Given the description of an element on the screen output the (x, y) to click on. 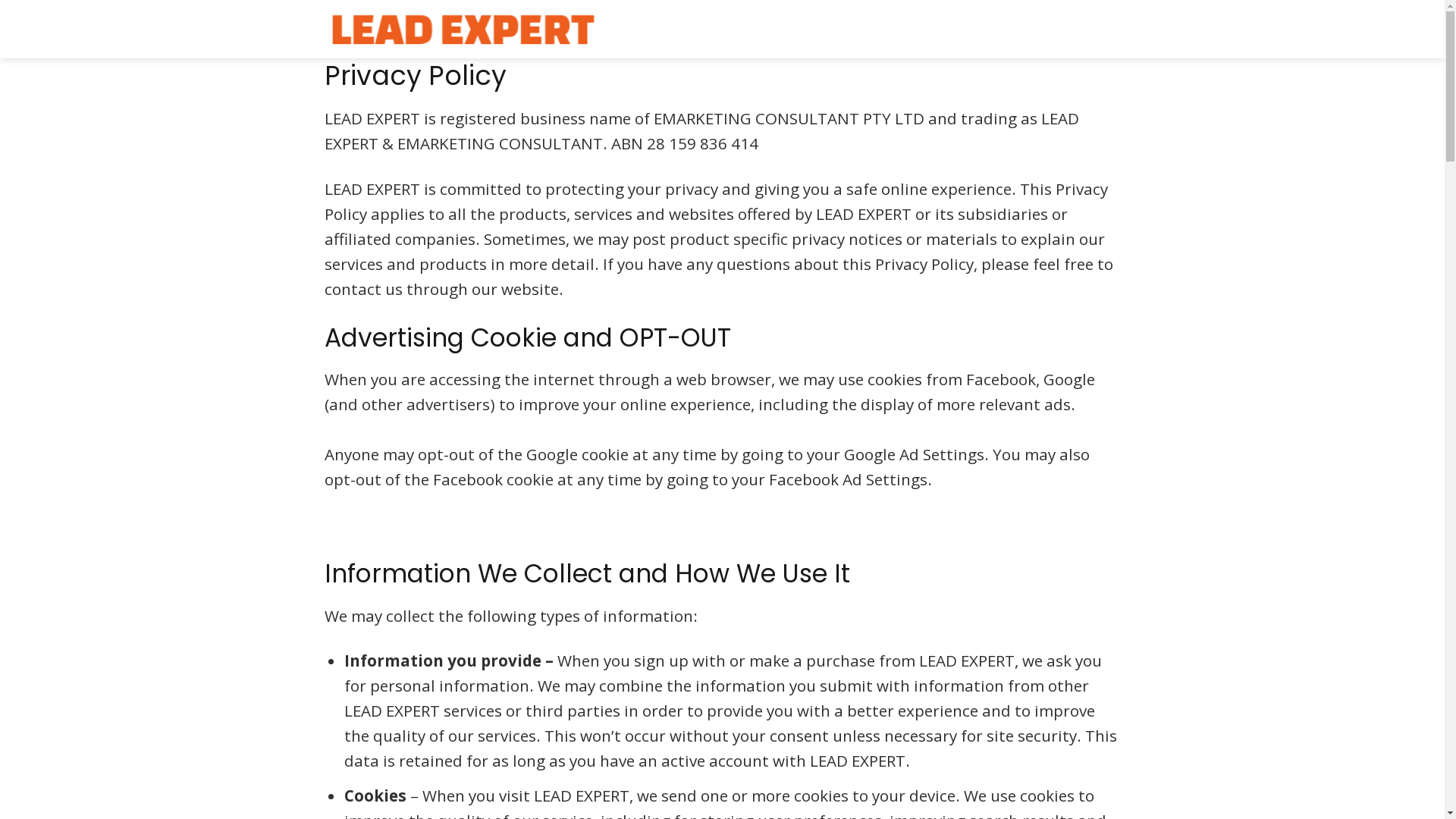
Skip to content Element type: text (0, 0)
